Given the description of an element on the screen output the (x, y) to click on. 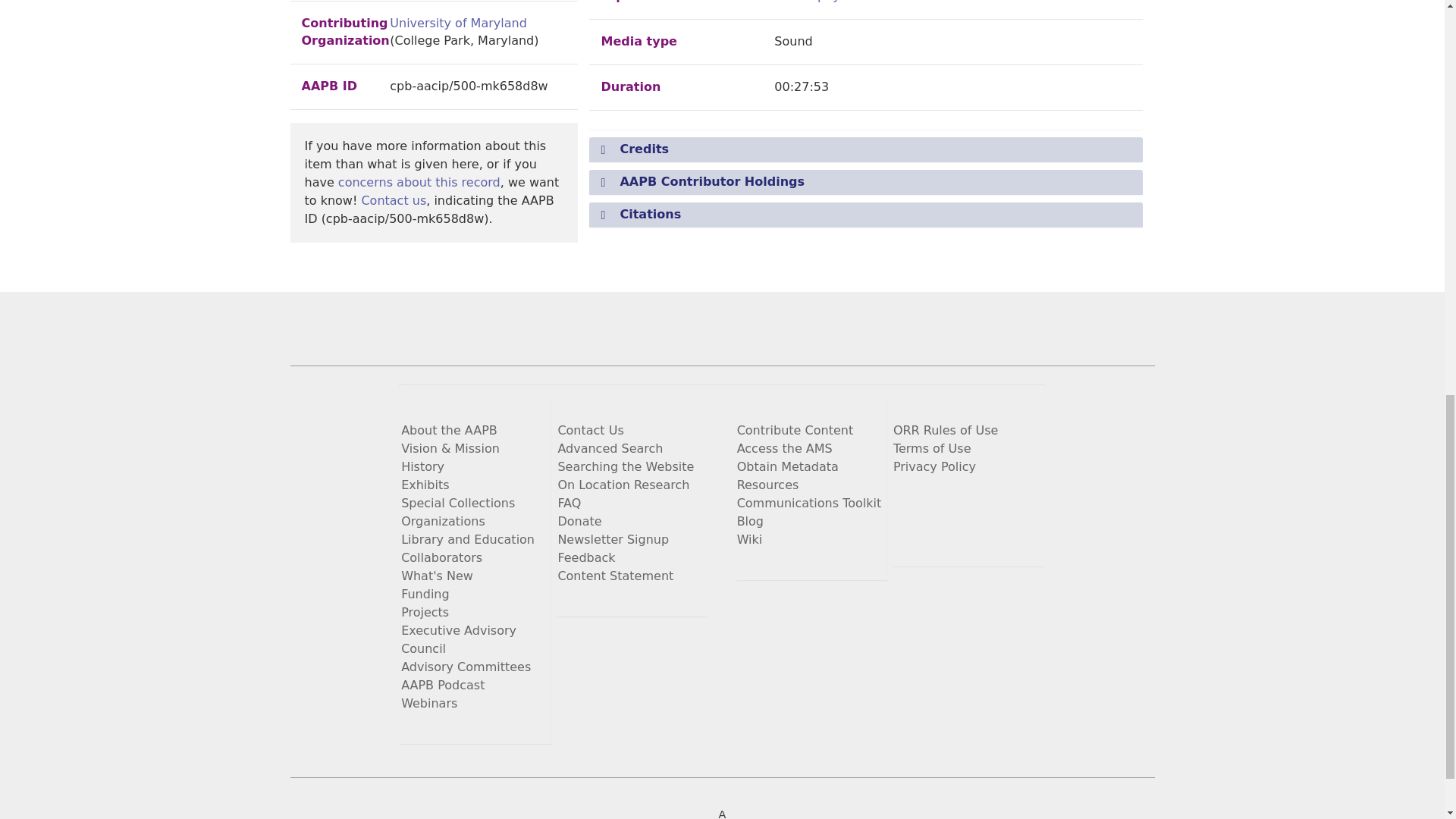
Follow us on Twitter (941, 500)
GBH Archives (899, 813)
Follow us on Mastodon (941, 529)
Listen to our Podcast (905, 529)
Read the AAPB Blog (905, 500)
Join us on reddit (978, 529)
Like us on Facebook (978, 500)
The Library of Congress (545, 813)
Follow us on Instagram (1014, 500)
